Given the description of an element on the screen output the (x, y) to click on. 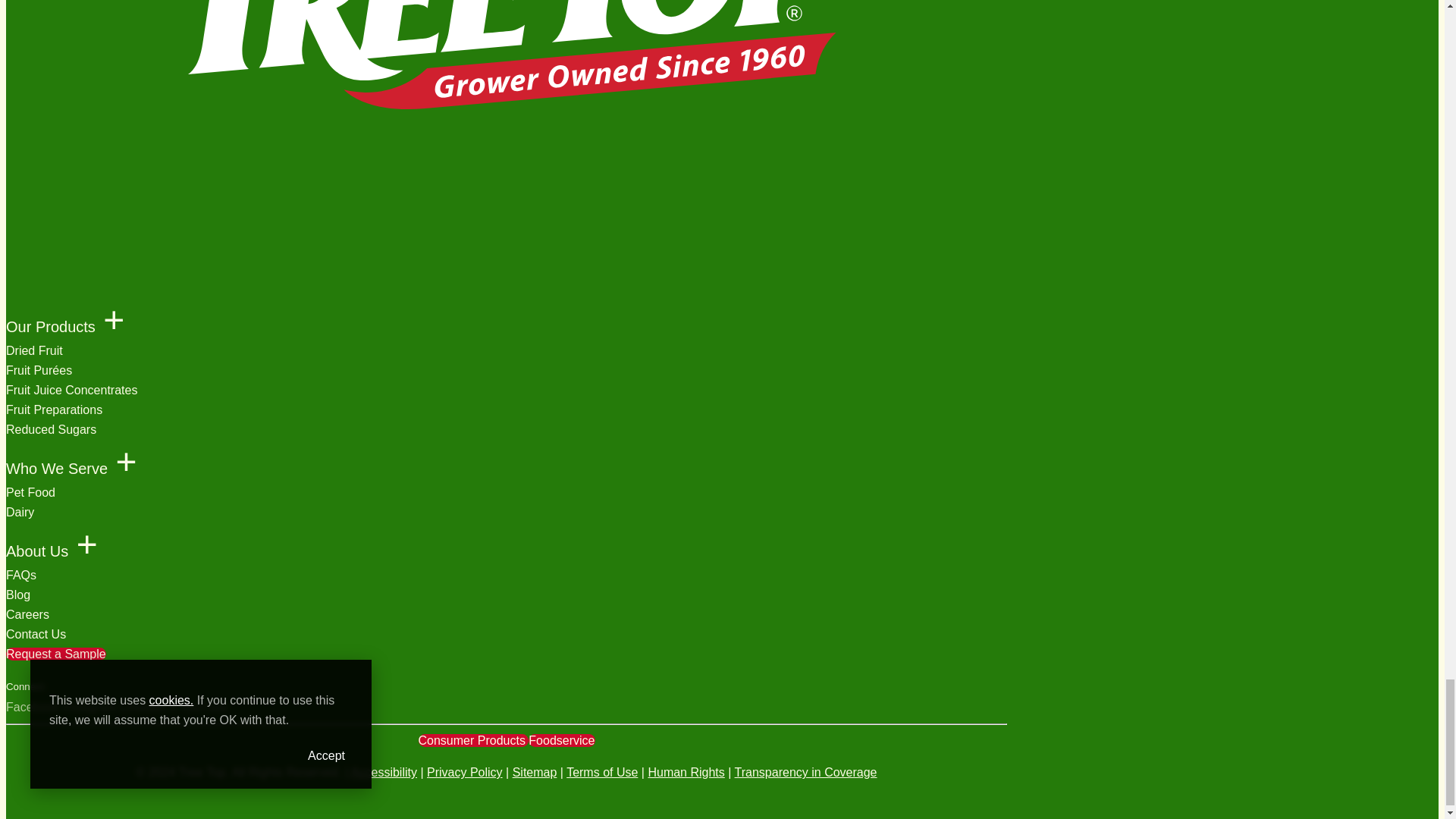
Instagram (89, 707)
YouTube (204, 707)
LinkedIn (142, 707)
Facebook (32, 707)
